Given the description of an element on the screen output the (x, y) to click on. 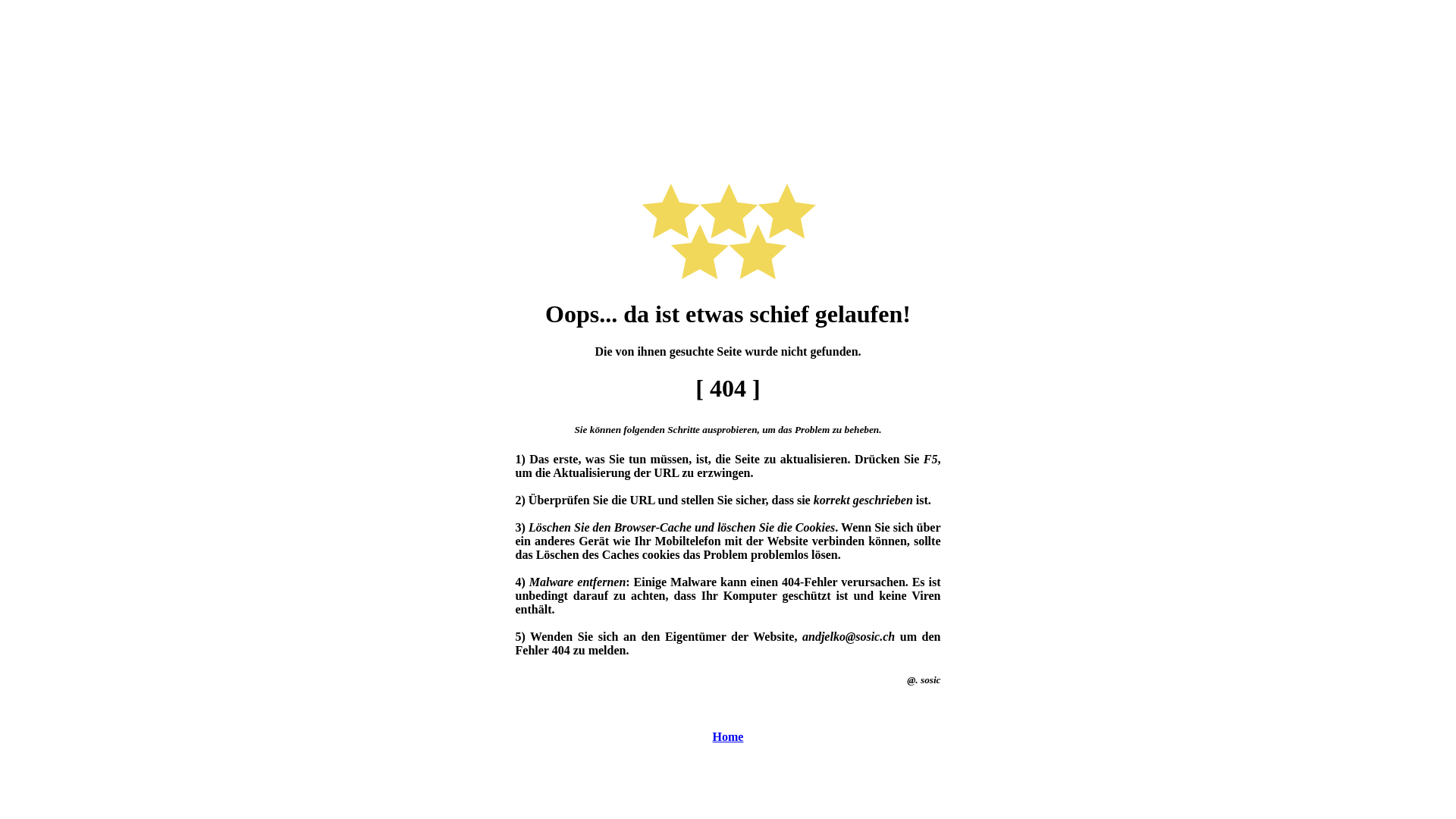
Home Element type: text (727, 736)
